Given the description of an element on the screen output the (x, y) to click on. 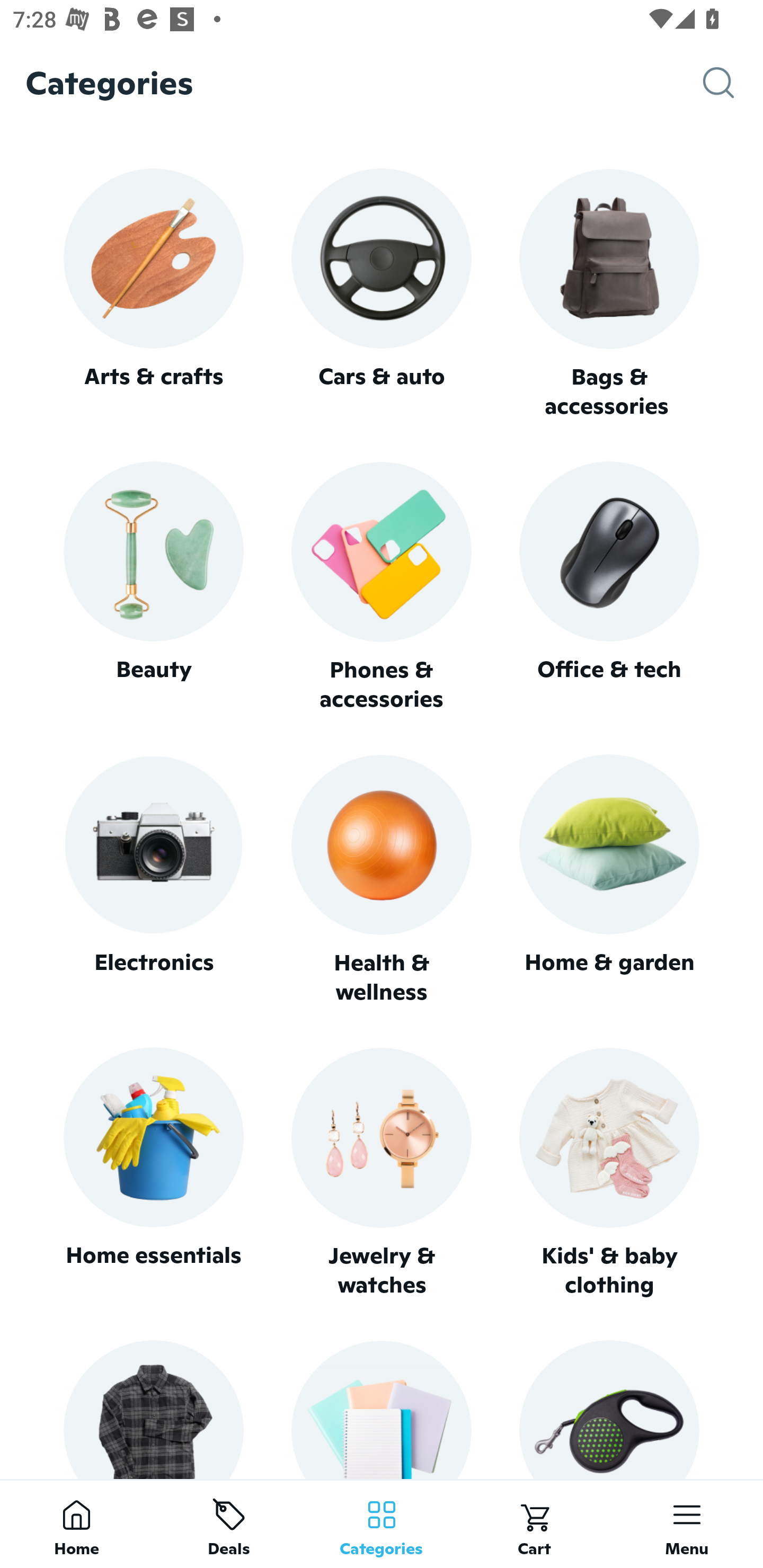
Search (732, 82)
Arts & crafts (153, 293)
Cars & auto (381, 293)
Bags & accessories  (609, 294)
Beauty (153, 586)
Office & tech (609, 586)
Phones & accessories (381, 587)
Electronics (153, 880)
Home & garden (609, 880)
Health & wellness (381, 880)
Home essentials (153, 1172)
Jewelry & watches (381, 1172)
Kids' & baby clothing (609, 1172)
Men's clothing (153, 1409)
Pet supplies (609, 1409)
Office & school supplies (381, 1409)
Home (76, 1523)
Deals (228, 1523)
Categories (381, 1523)
Cart (533, 1523)
Menu (686, 1523)
